Given the description of an element on the screen output the (x, y) to click on. 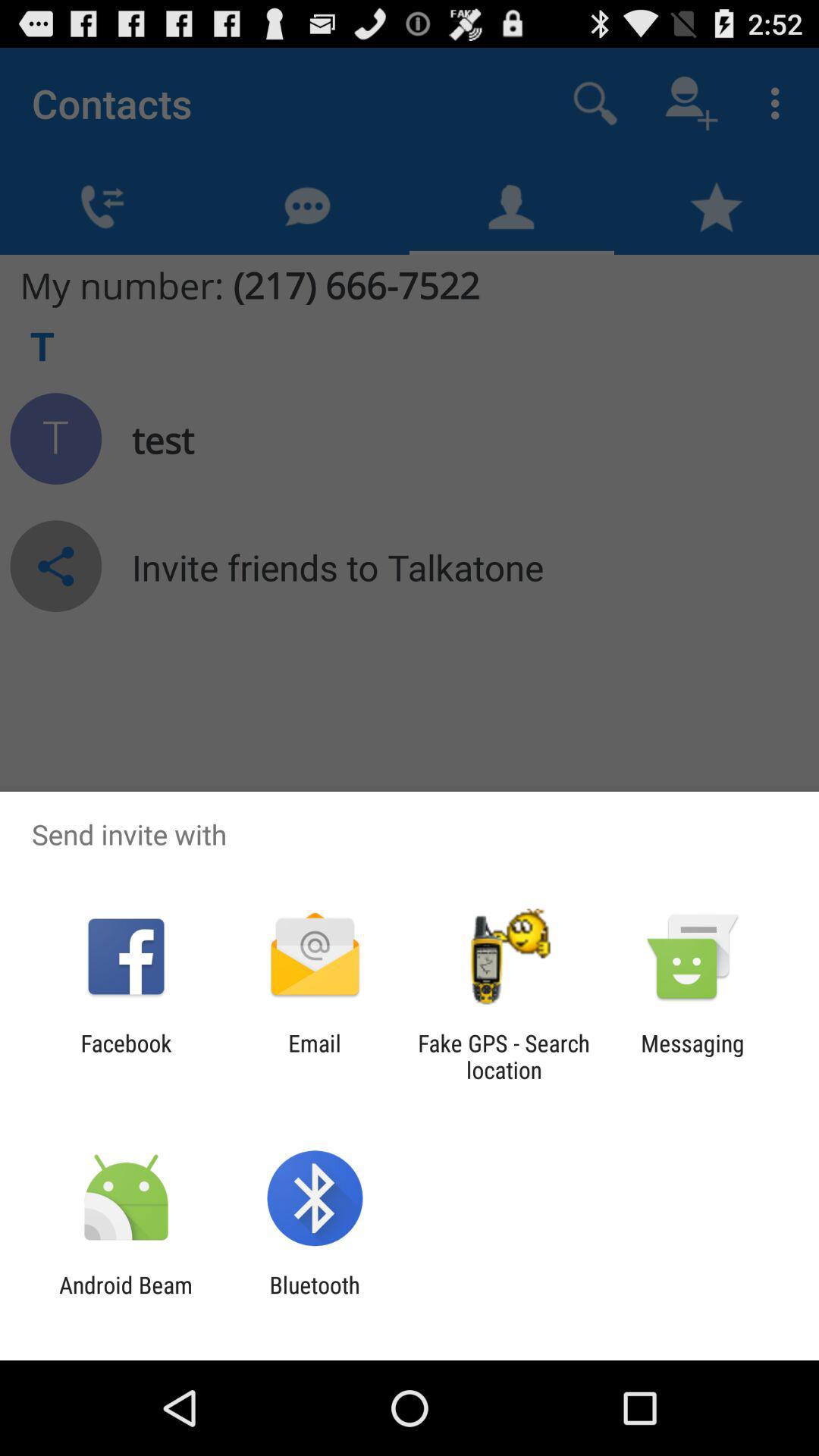
launch icon next to the facebook icon (314, 1056)
